Given the description of an element on the screen output the (x, y) to click on. 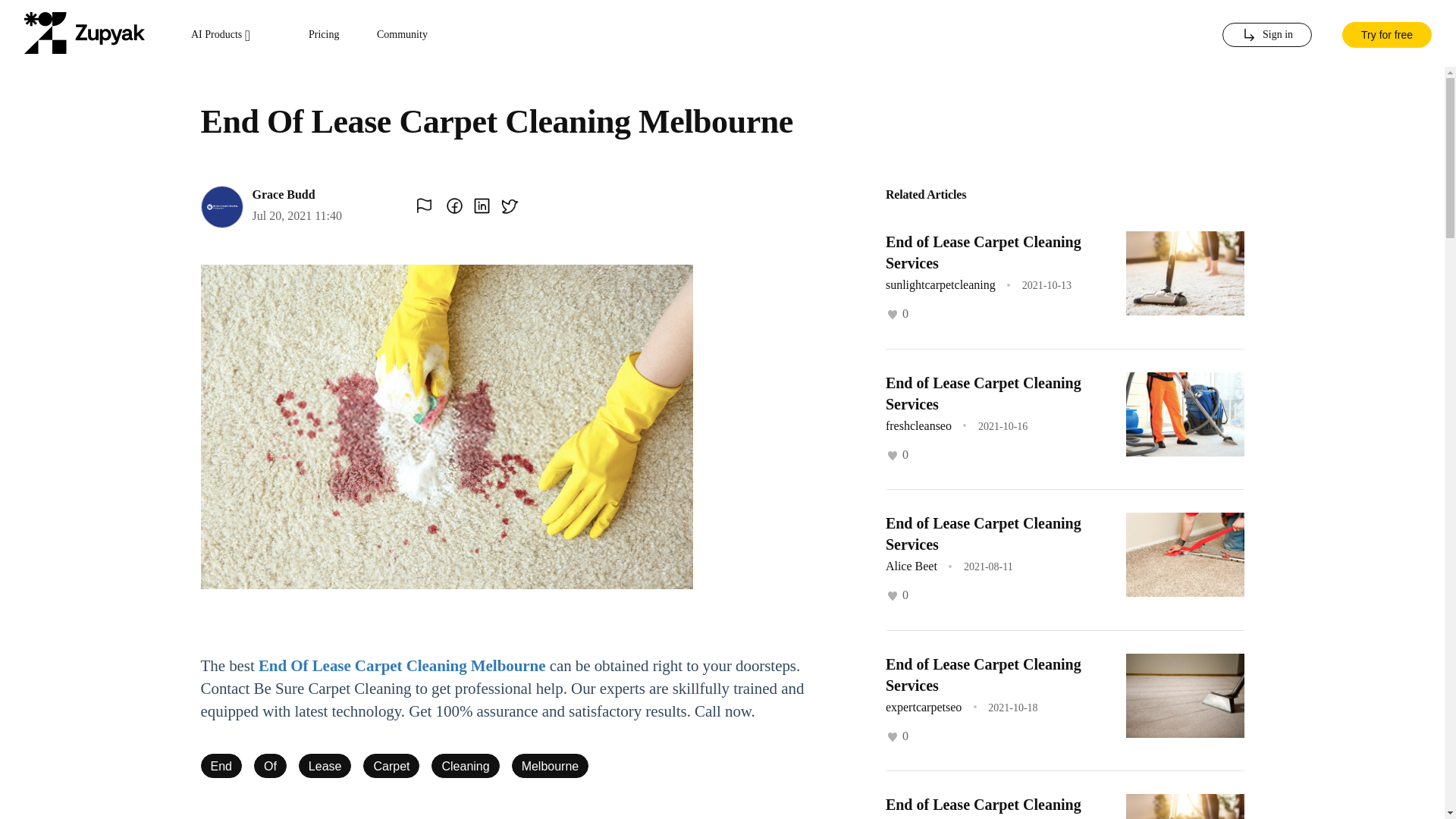
Lease (325, 765)
End of Lease Carpet Cleaning Services (983, 673)
Melbourne (550, 765)
Community (402, 34)
Carpet (390, 765)
End of Lease Carpet Cleaning Services (983, 533)
End of Lease Carpet Cleaning Services (983, 252)
End of Lease Carpet Cleaning Services (983, 393)
Try for free (1386, 33)
End of Lease Carpet Cleaning Services (983, 807)
